Given the description of an element on the screen output the (x, y) to click on. 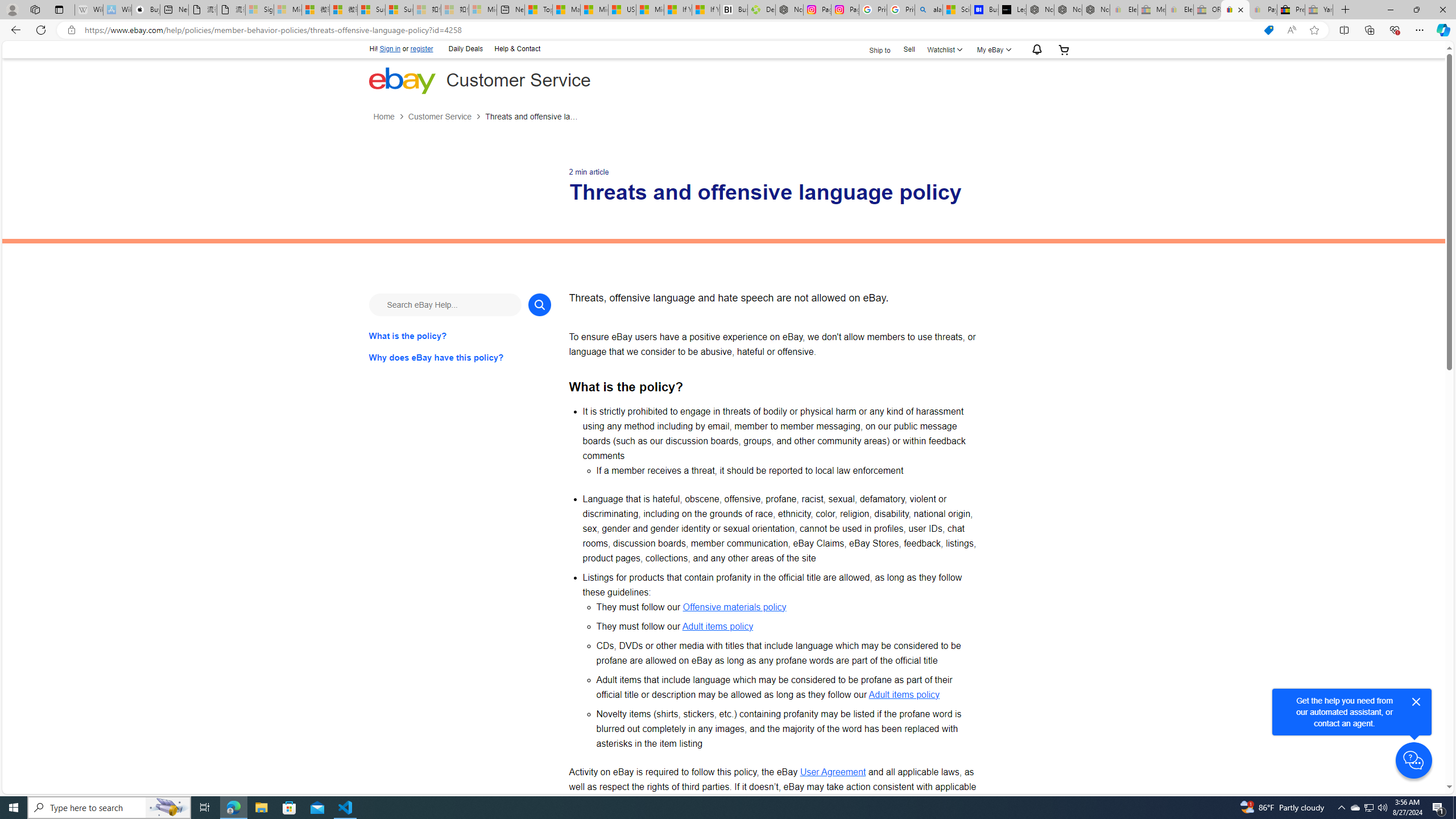
User Agreement (832, 771)
Offensive materials policy (734, 606)
AutomationID: gh-eb-Alerts (1035, 49)
Expand Cart (1064, 49)
They must follow our Offensive materials policy (787, 607)
Daily Deals (465, 49)
Threats and offensive language policy (532, 117)
